Given the description of an element on the screen output the (x, y) to click on. 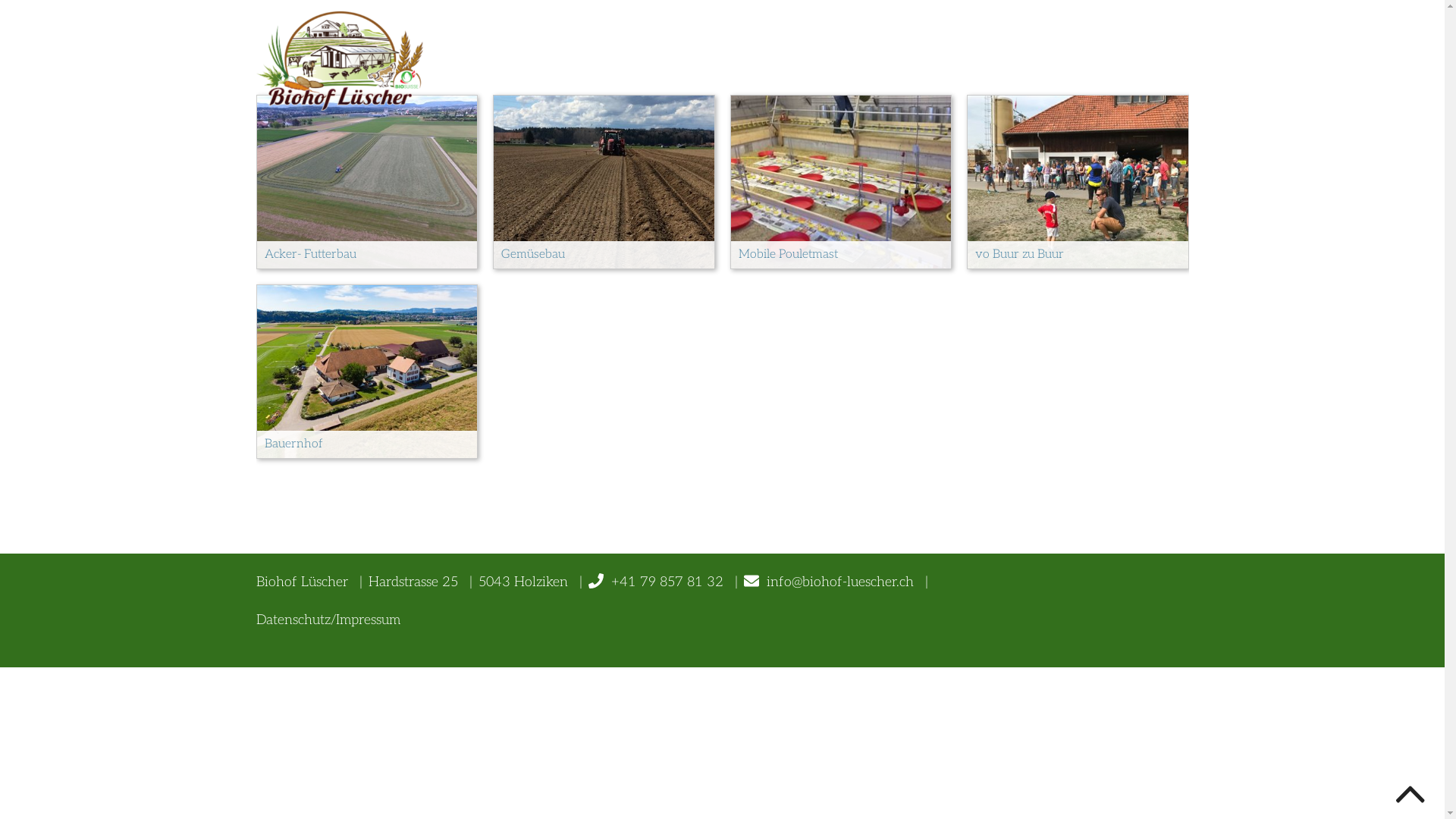
KONTAKT Element type: text (1143, 41)
FOTOGALERIE Element type: text (1014, 41)
Acker- Futterbau Element type: text (366, 181)
Mobile Pouletmast Element type: text (841, 181)
+41 79 857 81 32 Element type: text (667, 581)
HARDHOF Element type: text (792, 41)
info@biohof-luescher.ch Element type: text (828, 581)
Datenschutz/Impressum  Element type: text (330, 619)
EVENTS Element type: text (894, 41)
Bauernhof Element type: text (366, 371)
vo Buur zu Buur Element type: text (1077, 181)
HOME Element type: text (583, 41)
